Given the description of an element on the screen output the (x, y) to click on. 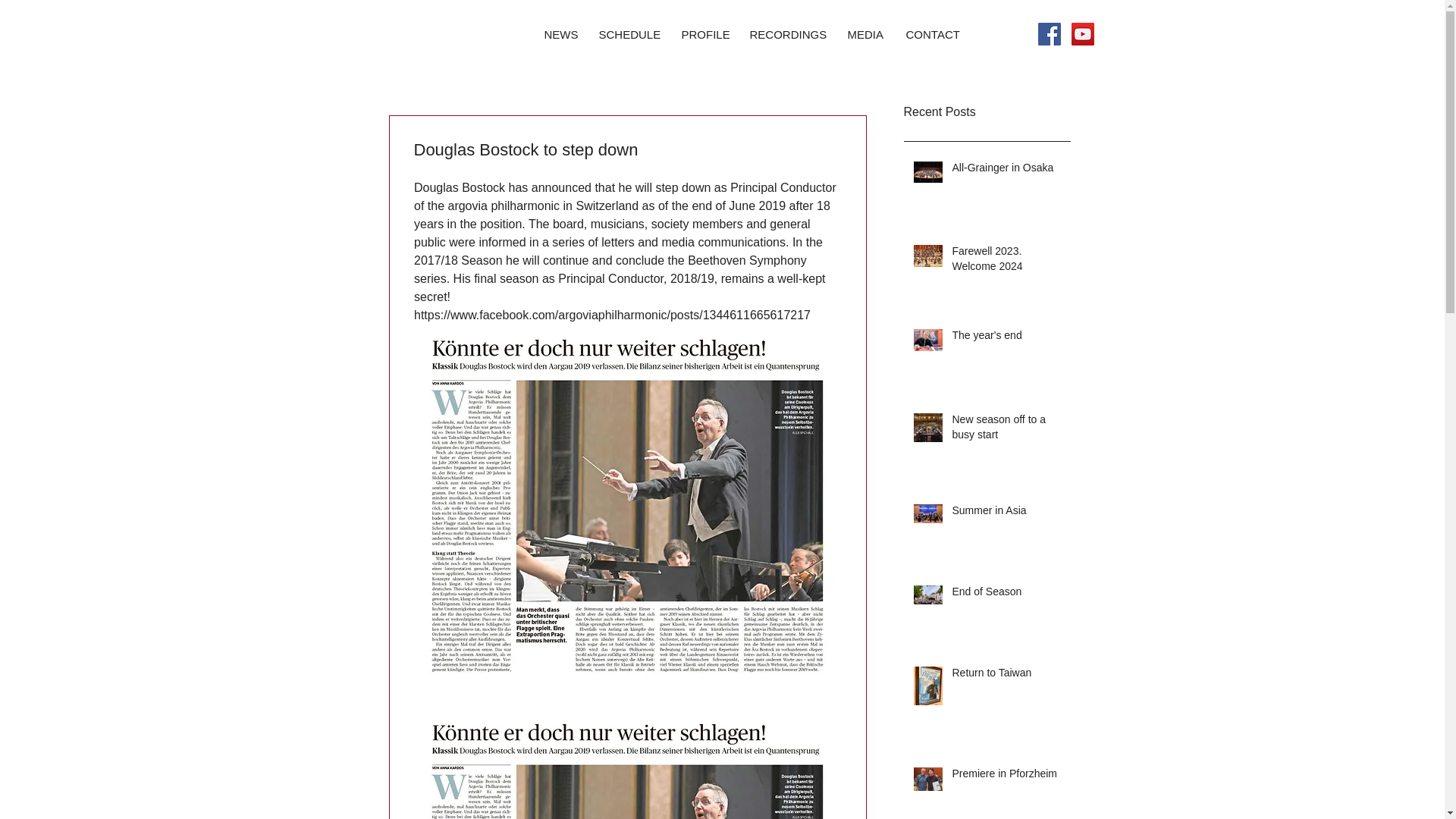
Premiere in Pforzheim (1006, 776)
Return to Taiwan (1006, 676)
CONTACT (932, 34)
New season off to a busy start (1006, 429)
End of Season (1006, 595)
NEWS (559, 34)
RECORDINGS (786, 34)
The year's end (1006, 338)
All-Grainger in Osaka (1006, 170)
Summer in Asia (1006, 513)
